Given the description of an element on the screen output the (x, y) to click on. 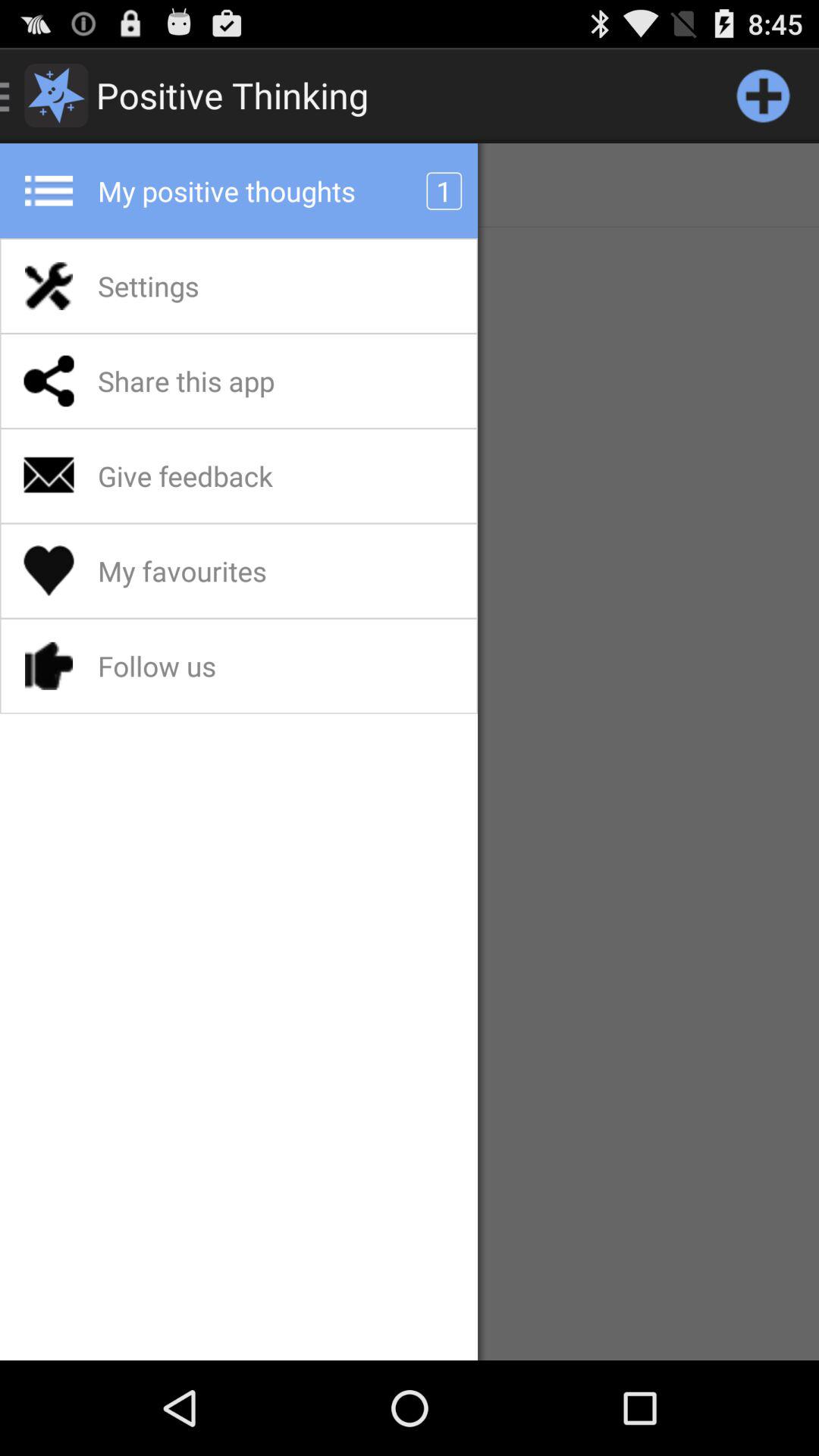
flip until give feedback app (224, 475)
